Given the description of an element on the screen output the (x, y) to click on. 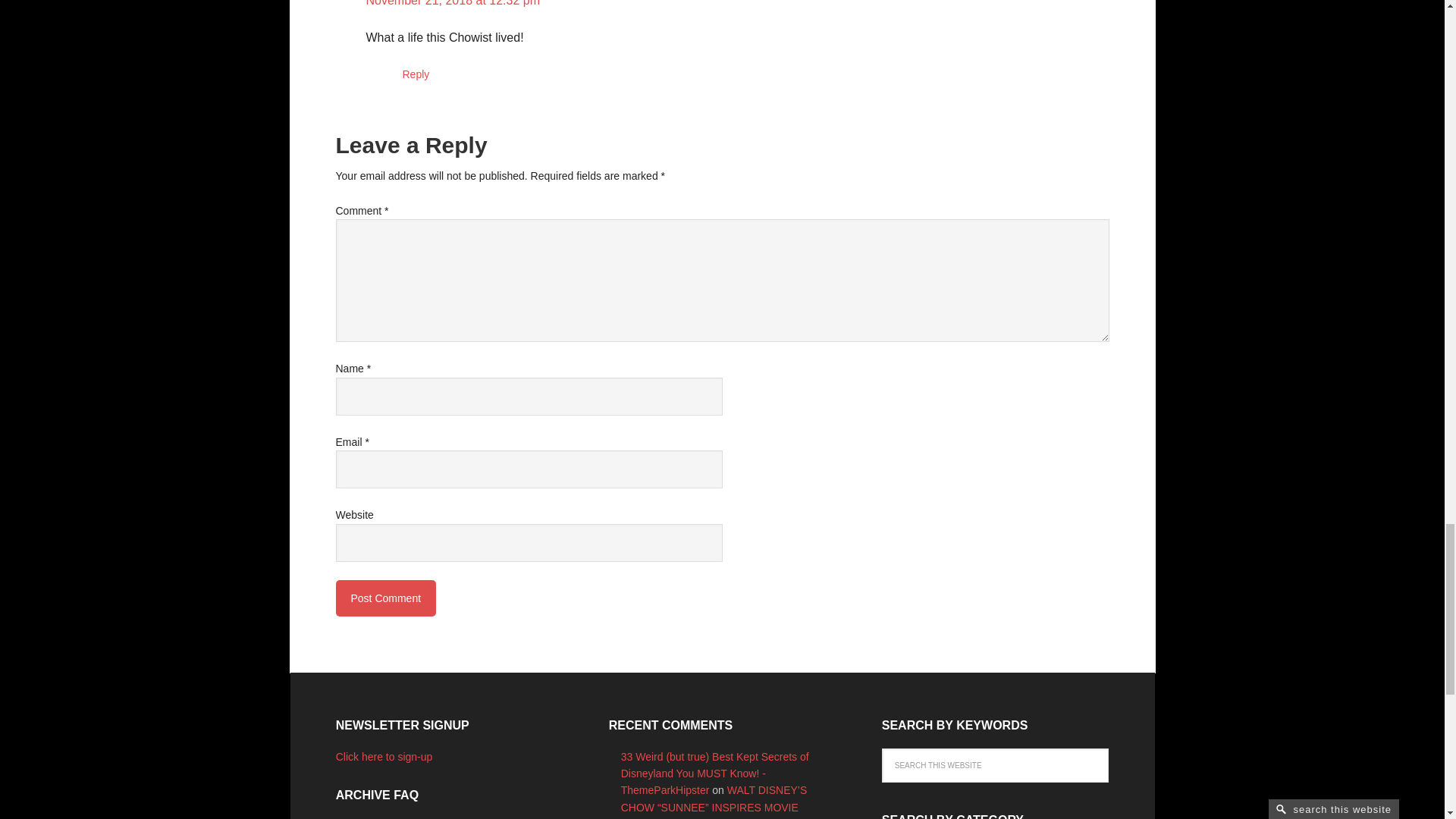
Post Comment (384, 597)
